Given the description of an element on the screen output the (x, y) to click on. 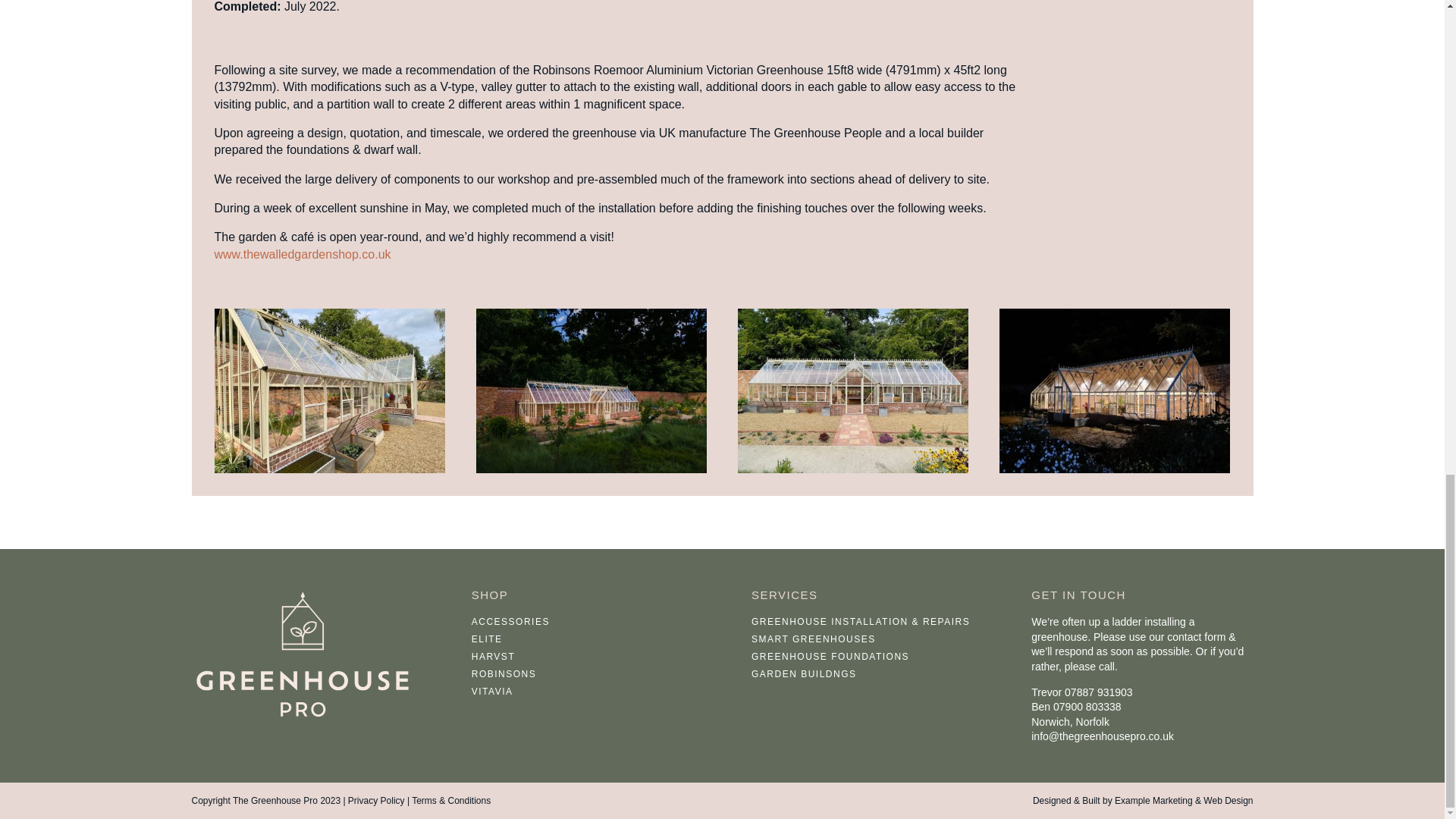
Ben 07900 803338 (1075, 706)
Privacy Policy (375, 800)
The Walled Garden - web (591, 472)
Trevor 07887 931903 (1081, 692)
ROBINSONS (504, 674)
The Walled Garden -5-web (853, 472)
ELITE (486, 638)
www.thewalledgardenshop.co.uk (302, 254)
HARVST (493, 656)
The Walled Garden -6-web (329, 472)
ACCESSORIES (510, 621)
The Walled Garden - night-web (1114, 472)
VITAVIA (492, 691)
